Given the description of an element on the screen output the (x, y) to click on. 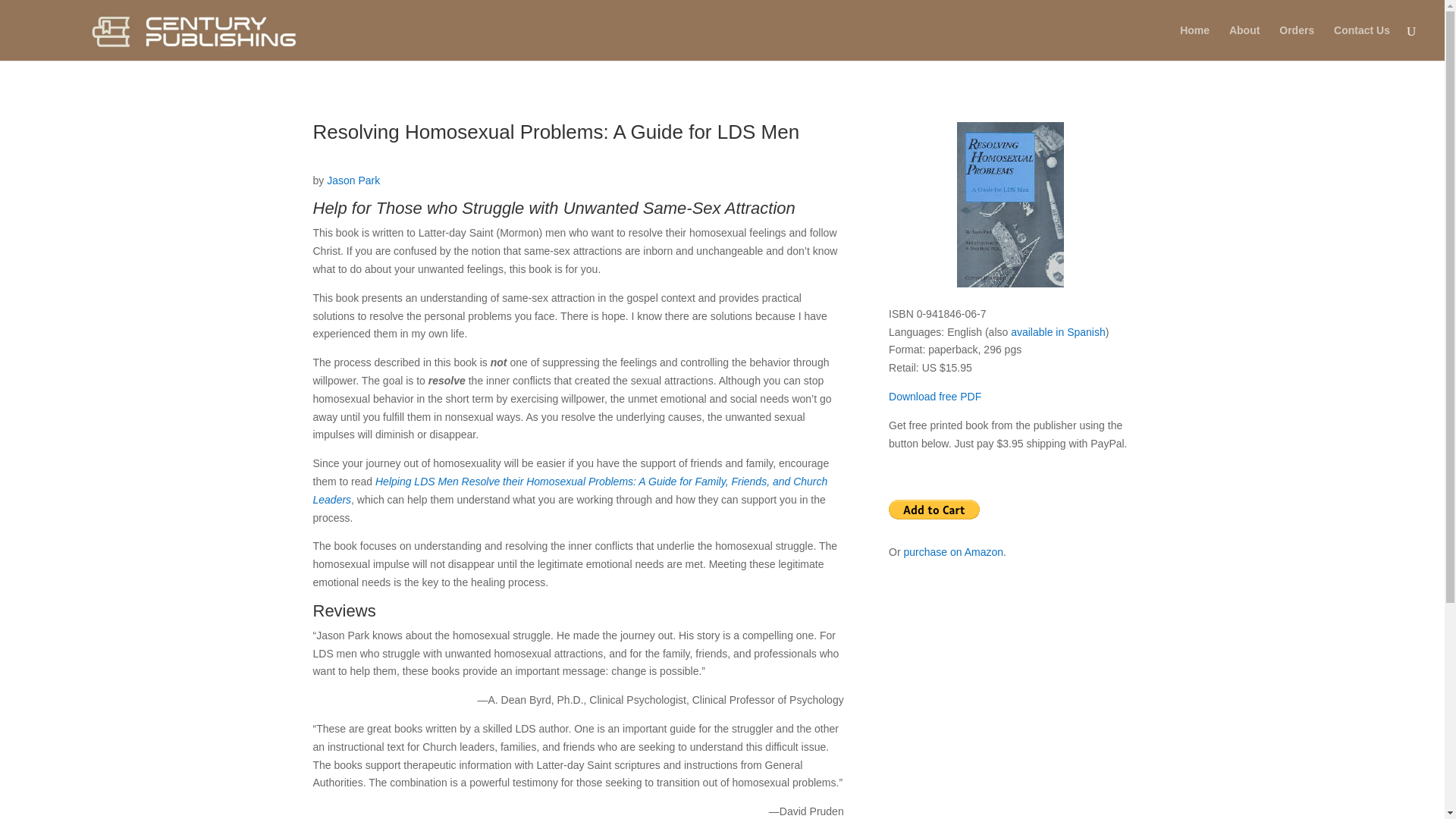
available in Spanish (1057, 331)
Download free PDF (934, 396)
Orders (1296, 42)
Contact Us (1361, 42)
Jason Park (353, 180)
purchase on Amazon (954, 551)
